Given the description of an element on the screen output the (x, y) to click on. 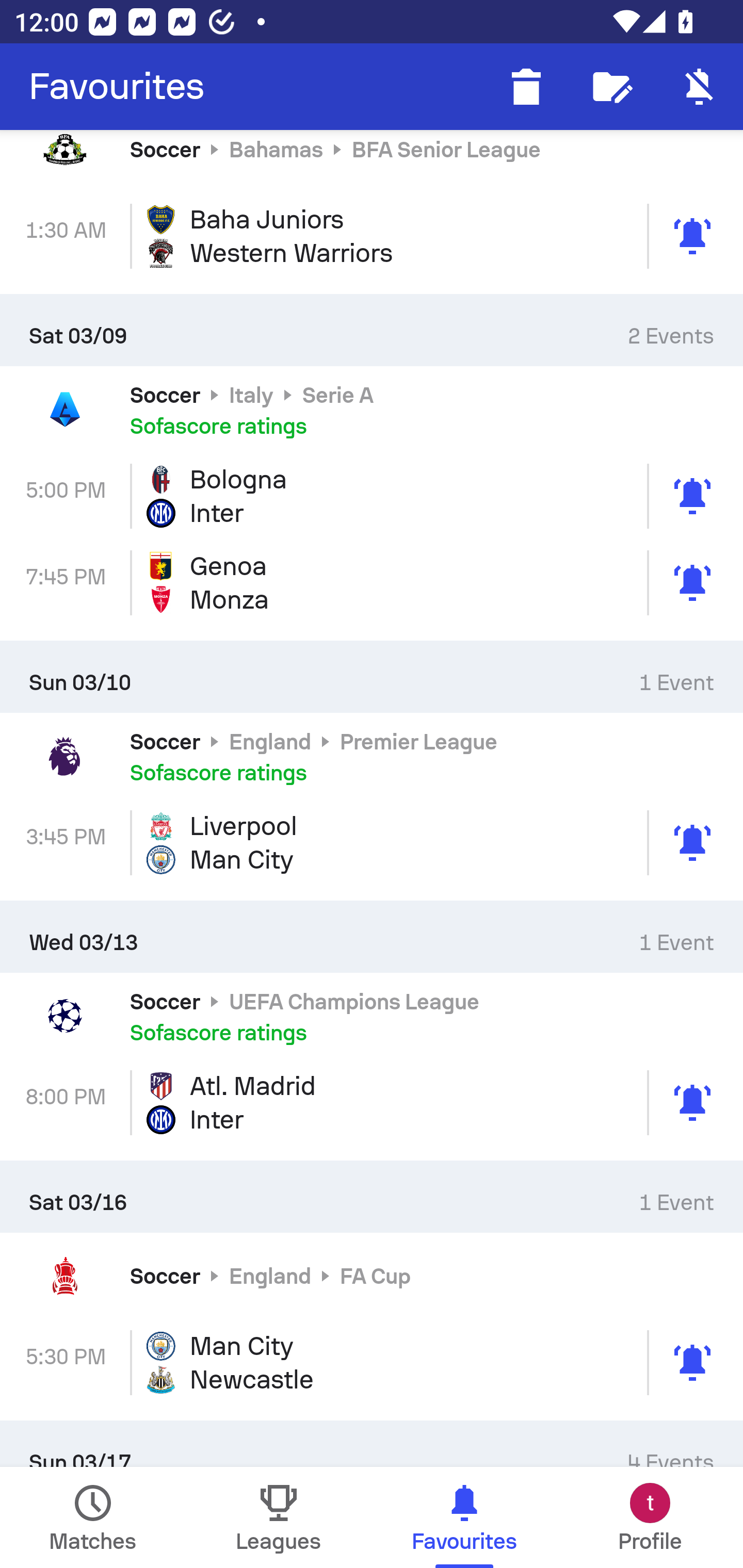
Favourites (116, 86)
Delete finished (525, 86)
Follow editor (612, 86)
Enable notifications (699, 86)
Soccer Bahamas BFA Senior League (371, 161)
1:30 AM Baha Juniors Western Warriors (371, 235)
Sat 03/09 2 Events (371, 330)
Soccer Italy Serie A Sofascore ratings (371, 409)
5:00 PM Bologna Inter (371, 496)
7:45 PM Genoa Monza (371, 582)
Sun 03/10 1 Event (371, 677)
Soccer England Premier League Sofascore ratings (371, 756)
3:45 PM Liverpool Man City (371, 842)
Wed 03/13 1 Event (371, 936)
Soccer UEFA Champions League Sofascore ratings (371, 1015)
8:00 PM Atl. Madrid Inter (371, 1102)
Sat 03/16 1 Event (371, 1196)
Soccer England FA Cup (371, 1275)
5:30 PM Man City Newcastle (371, 1362)
Matches (92, 1517)
Leagues (278, 1517)
Profile (650, 1517)
